Given the description of an element on the screen output the (x, y) to click on. 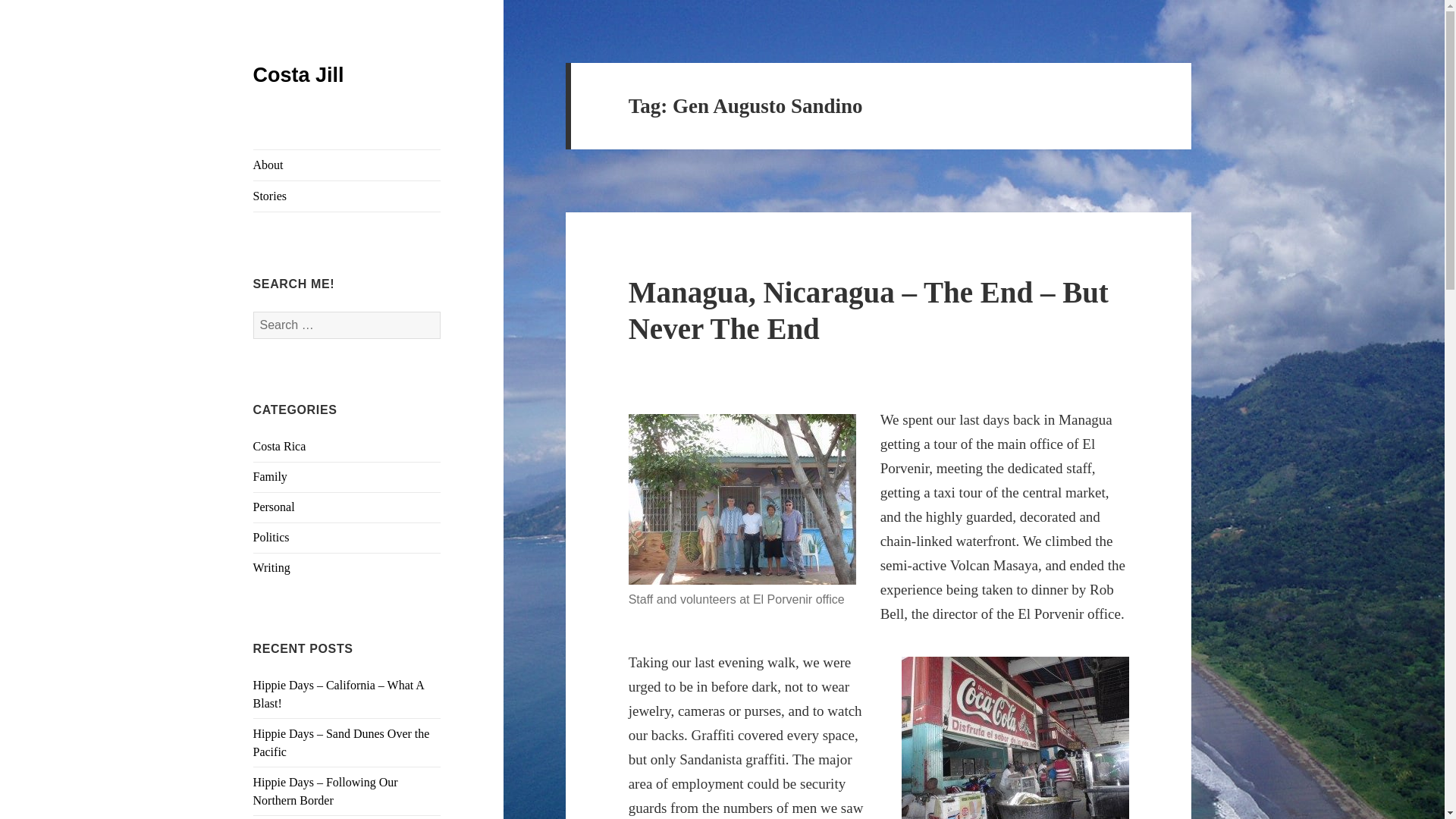
p30302021 (1015, 737)
Costa Rica (279, 445)
Stories (347, 195)
Politics (271, 536)
Family (269, 476)
Personal (274, 506)
p3050233 (742, 499)
About (347, 164)
Writing (271, 567)
Costa Jill (298, 74)
